Given the description of an element on the screen output the (x, y) to click on. 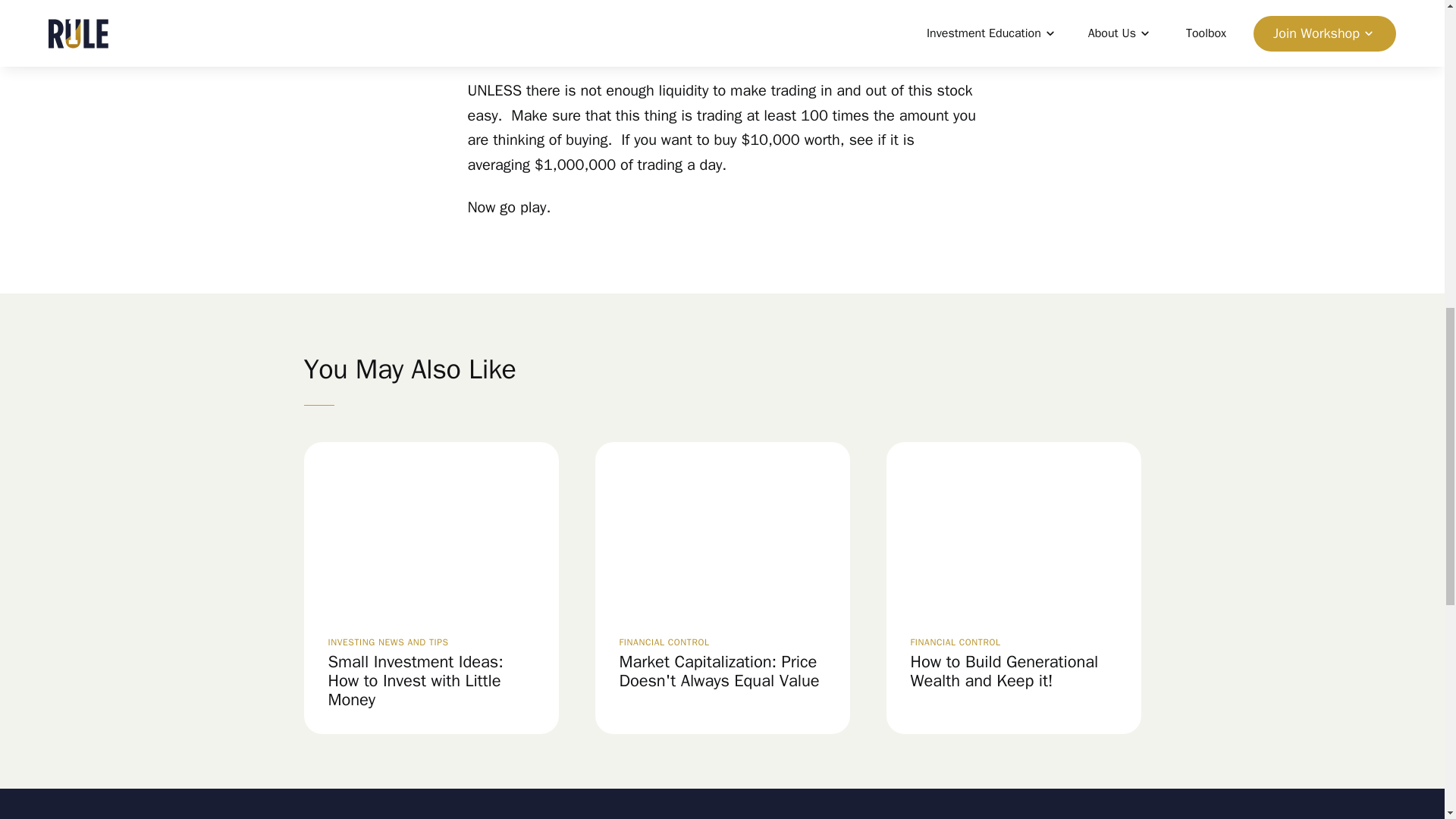
Get Phil's Free Guide (1180, 32)
